Given the description of an element on the screen output the (x, y) to click on. 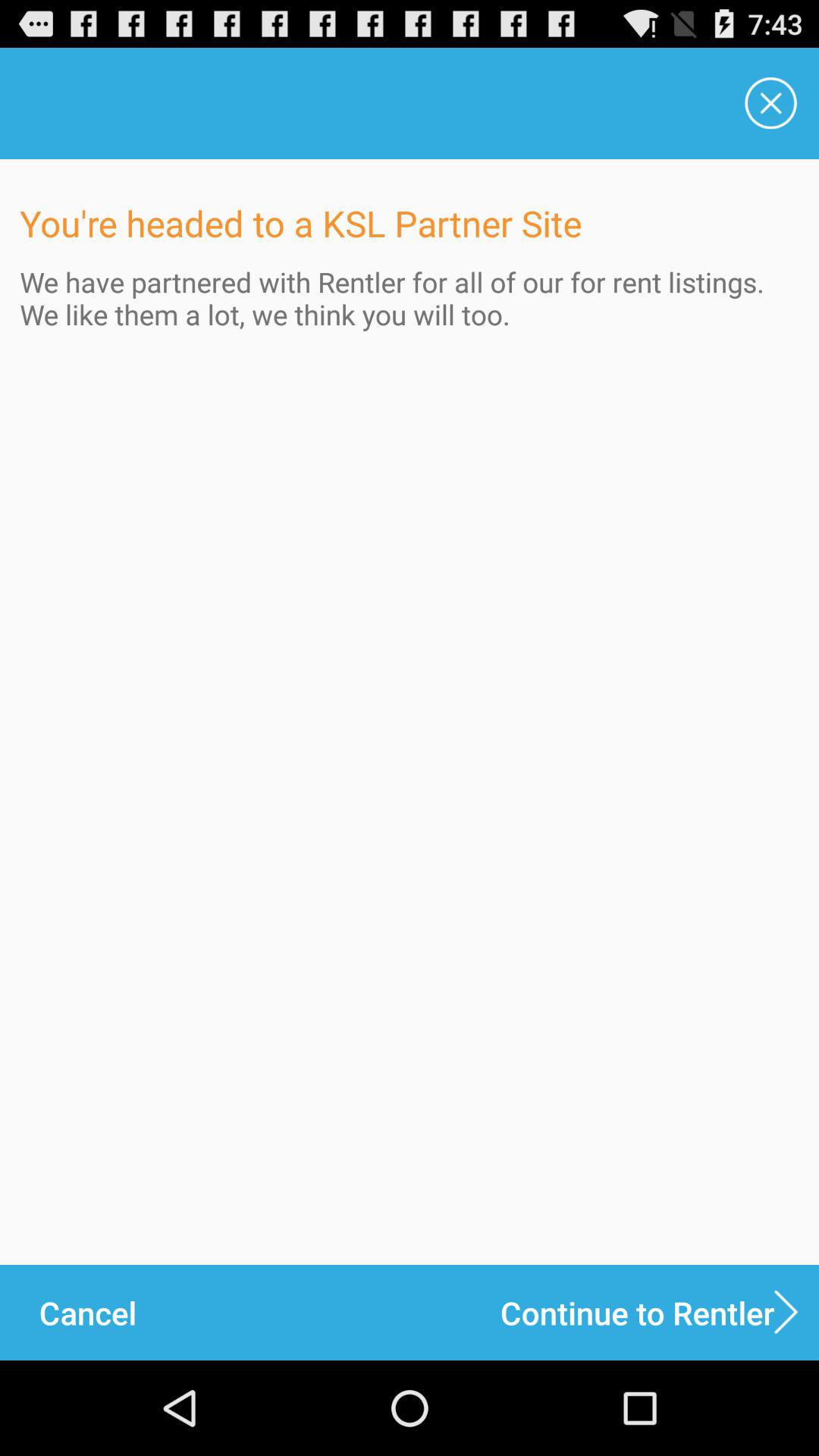
turn on icon next to the cancel icon (659, 1312)
